Given the description of an element on the screen output the (x, y) to click on. 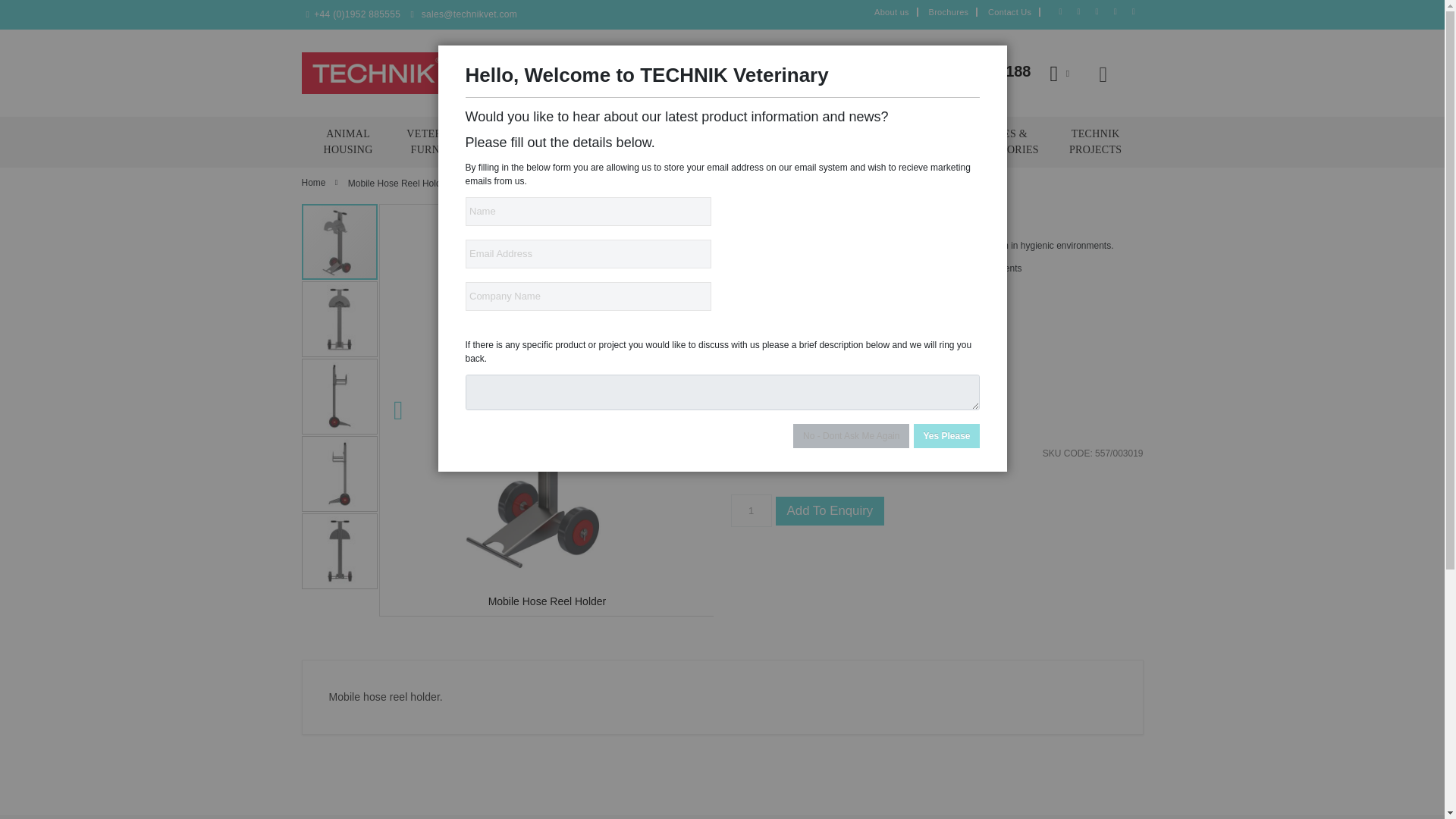
Linkedin (1098, 10)
Linkedin (1134, 10)
ANIMAL HOUSING (347, 142)
Linkedin (1116, 10)
Facebook (1062, 10)
Contact Us (1009, 11)
VETERINARY FURNITURE (441, 142)
Animal Housing (347, 142)
My Basket (1063, 72)
Brochures (948, 11)
About us (891, 11)
Twitter (1080, 10)
1 (750, 510)
Veterinary Equipment at Its Very Best (373, 73)
